Given the description of an element on the screen output the (x, y) to click on. 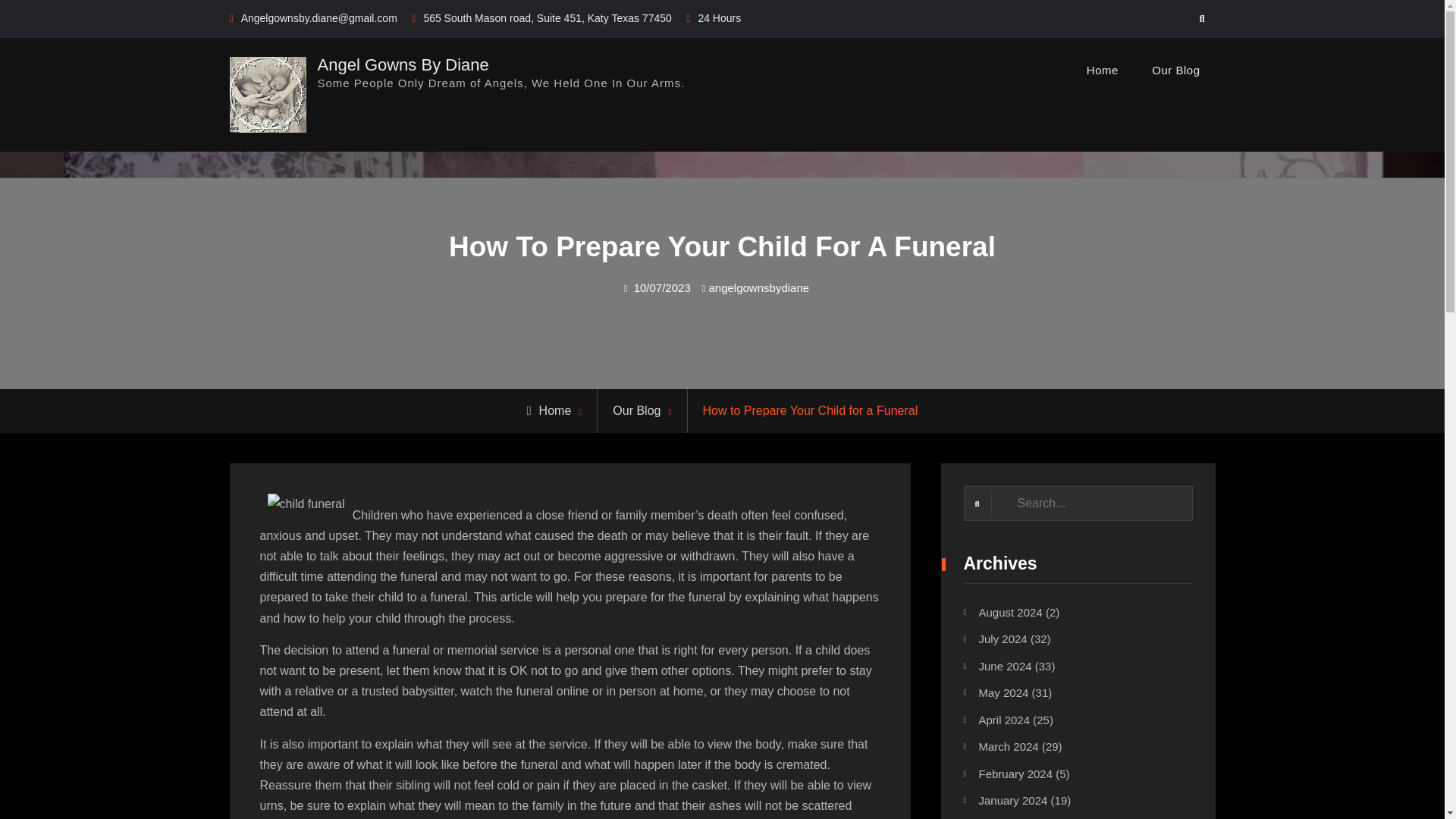
Our Blog (636, 410)
Angel Gowns By Diane (402, 63)
April 2024 (1003, 719)
Our Blog (1175, 69)
January 2024 (1012, 799)
March 2024 (1008, 746)
July 2024 (1002, 638)
August 2024 (1010, 612)
May 2024 (1002, 692)
angelgownsbydiane (758, 287)
